Given the description of an element on the screen output the (x, y) to click on. 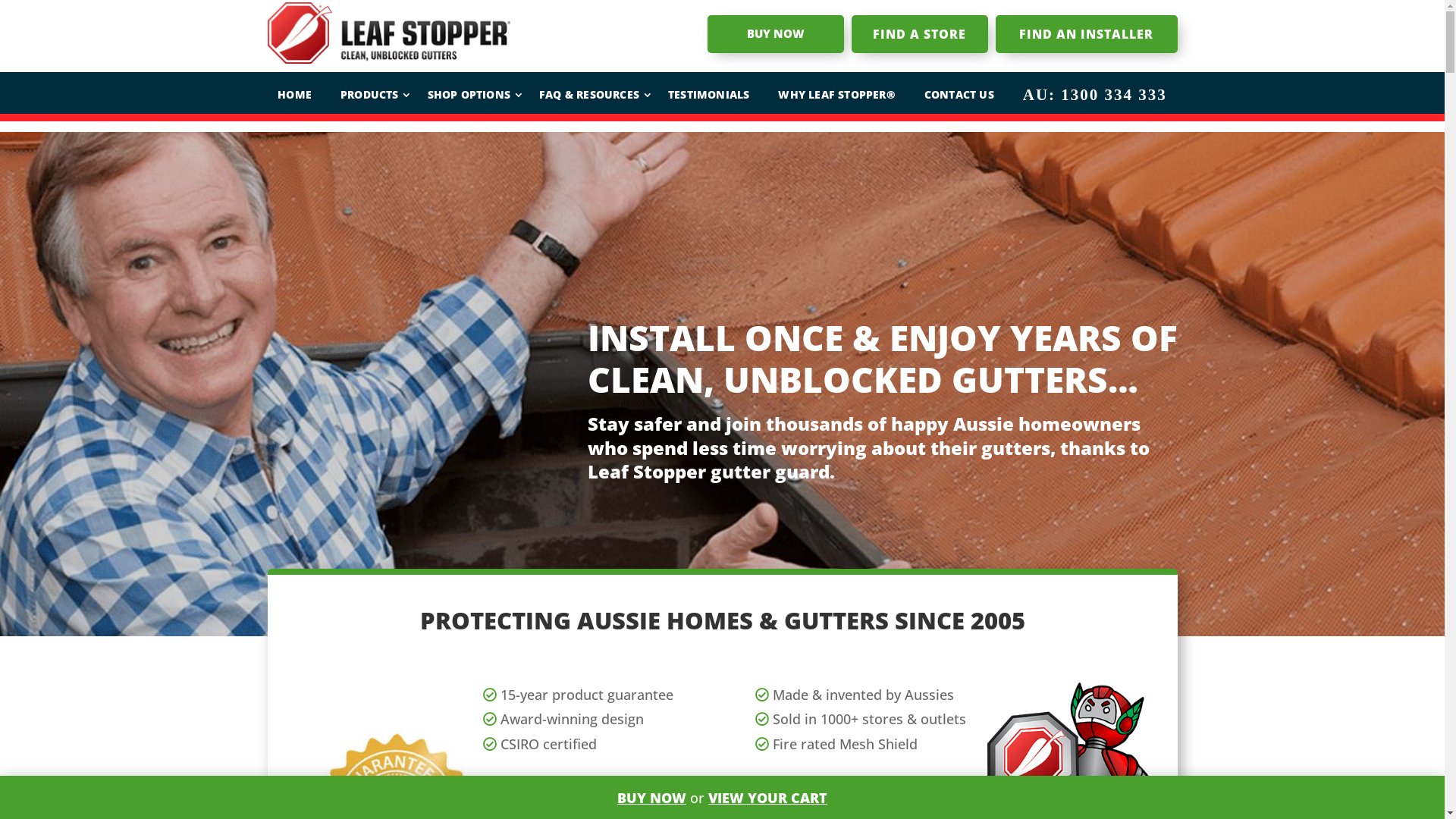
FIND A STORE Element type: text (918, 34)
CONTACT US Element type: text (959, 94)
HOME Element type: text (294, 94)
VIEW YOUR CART Element type: text (767, 797)
Leaf-Stopper-Logo-New Element type: hover (387, 32)
BUY NOW Element type: text (651, 797)
TESTIMONIALS Element type: text (708, 94)
PRODUCTS Element type: text (369, 94)
AU: 1300 334 333 Element type: text (1094, 94)
SHOP OPTIONS Element type: text (468, 94)
BUY NOW Element type: text (774, 34)
FAQ & RESOURCES Element type: text (589, 94)
FIND AN INSTALLER Element type: text (1085, 34)
